Given the description of an element on the screen output the (x, y) to click on. 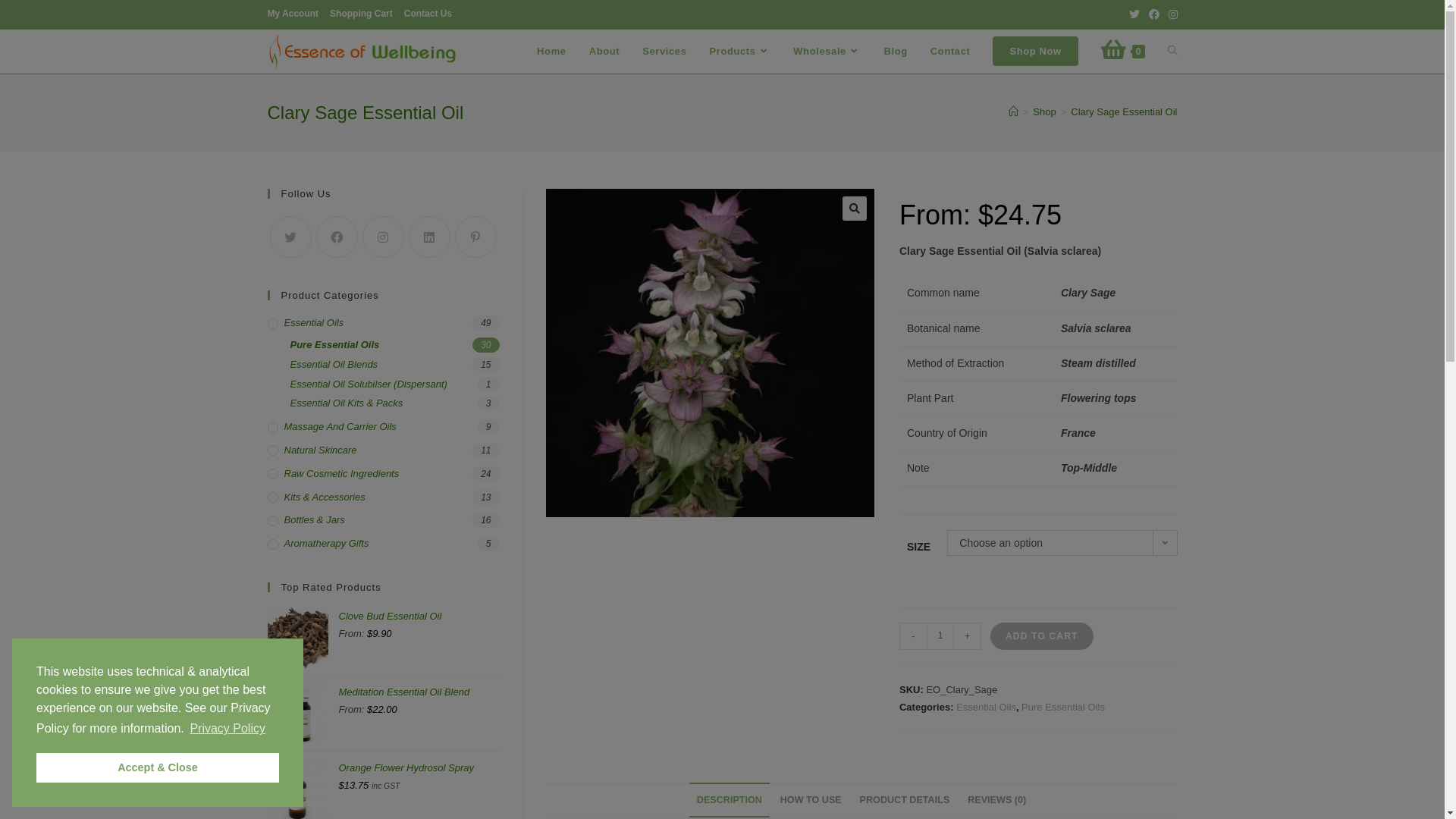
Essential Oils Element type: text (986, 706)
Orange Flower Hydrosol Spray Element type: text (418, 776)
Pure Essential Oils Element type: text (393, 345)
Meditation Essential Oil Blend Element type: text (418, 700)
Massage And Carrier Oils Element type: text (382, 427)
Pure Essential Oils Element type: text (1062, 706)
Clove Bud Essential Oil Element type: text (418, 624)
Contact Element type: text (950, 51)
EO_Clary_Sage Element type: hover (710, 352)
HOW TO USE Element type: text (810, 800)
REVIEWS (0) Element type: text (996, 800)
Shopping Cart Element type: text (360, 14)
Kits & Accessories Element type: text (382, 497)
Home Element type: text (551, 51)
Aromatherapy Gifts Element type: text (382, 544)
Products Element type: text (739, 51)
About Element type: text (604, 51)
Essential Oil Blends Element type: text (393, 365)
Wholesale Element type: text (826, 51)
Bottles & Jars Element type: text (382, 520)
Accept & Close Element type: text (157, 767)
DESCRIPTION Element type: text (729, 800)
Natural Skincare Element type: text (382, 450)
Essential Oils Element type: text (382, 323)
Raw Cosmetic Ingredients Element type: text (382, 474)
PRODUCT DETAILS Element type: text (904, 800)
Essential Oil Solubilser (Dispersant) Element type: text (393, 384)
+ Element type: text (967, 635)
Blog Element type: text (895, 51)
0 Element type: text (1122, 51)
Shop Now Element type: text (1034, 51)
Contact Us Element type: text (427, 14)
Essential Oil Kits & Packs Element type: text (393, 403)
My Account Element type: text (292, 14)
Shop Element type: text (1043, 111)
- Element type: text (912, 635)
Services Element type: text (663, 51)
ADD TO CART Element type: text (1041, 635)
Privacy Policy Element type: text (227, 728)
Clary Sage Essential Oil Element type: text (1123, 111)
